Given the description of an element on the screen output the (x, y) to click on. 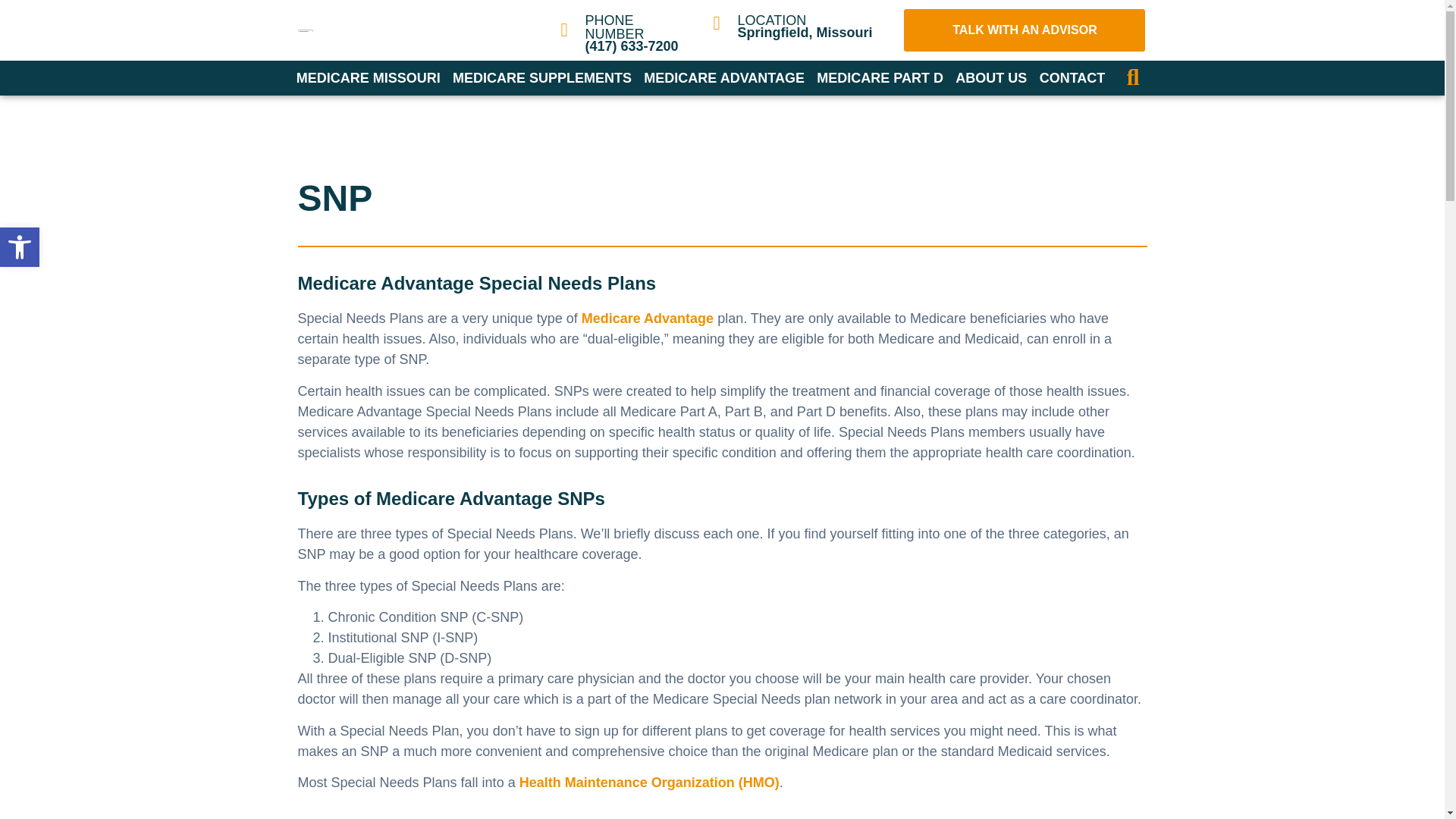
Accessibility Tools (19, 247)
Accessibility Tools (19, 246)
MEDICARE SUPPLEMENTS (541, 77)
TALK WITH AN ADVISOR (1024, 30)
MEDICARE MISSOURI (367, 77)
MEDICARE ADVANTAGE (723, 77)
LOCATION (771, 20)
PHONE NUMBER (615, 27)
